Given the description of an element on the screen output the (x, y) to click on. 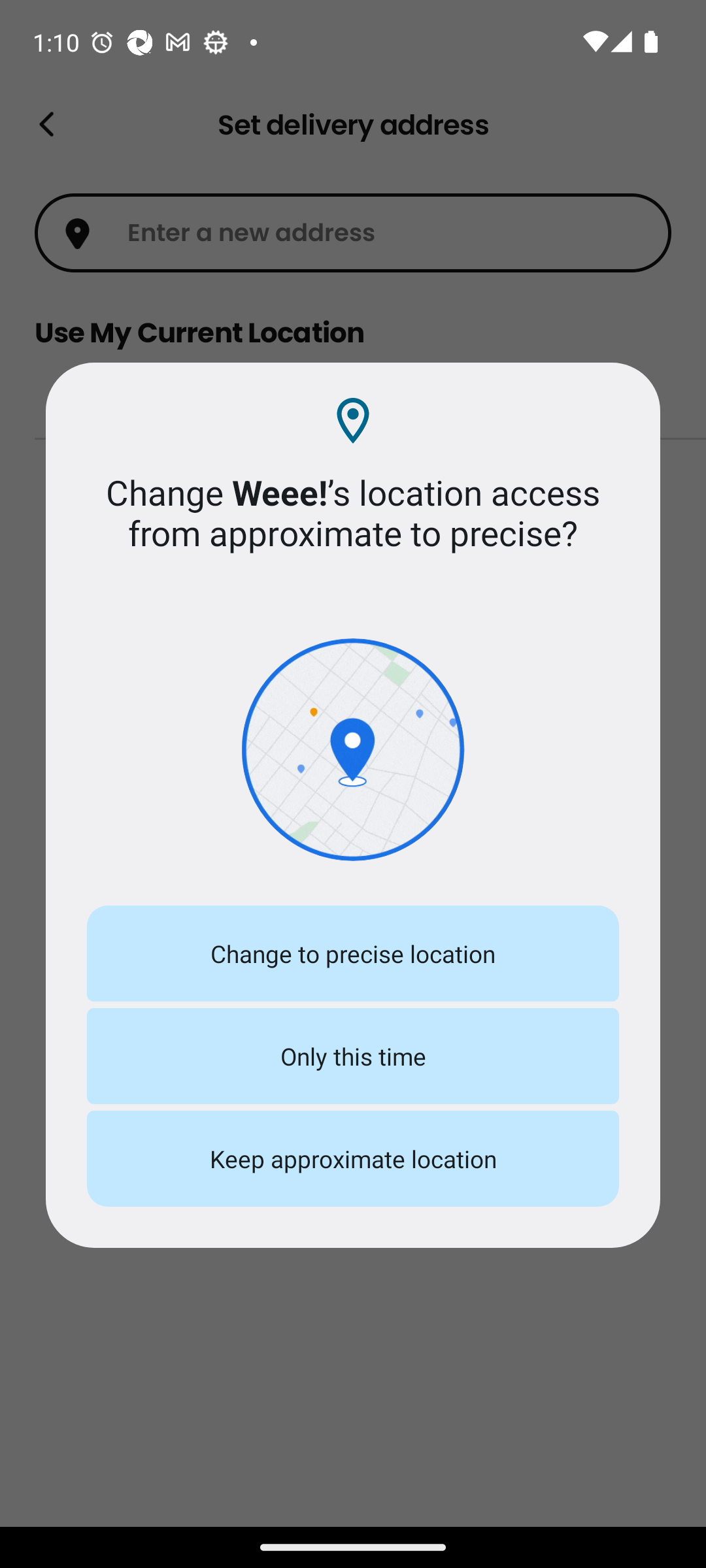
Change to precise location (352, 953)
Only this time (352, 1055)
Keep approximate location (352, 1158)
